Given the description of an element on the screen output the (x, y) to click on. 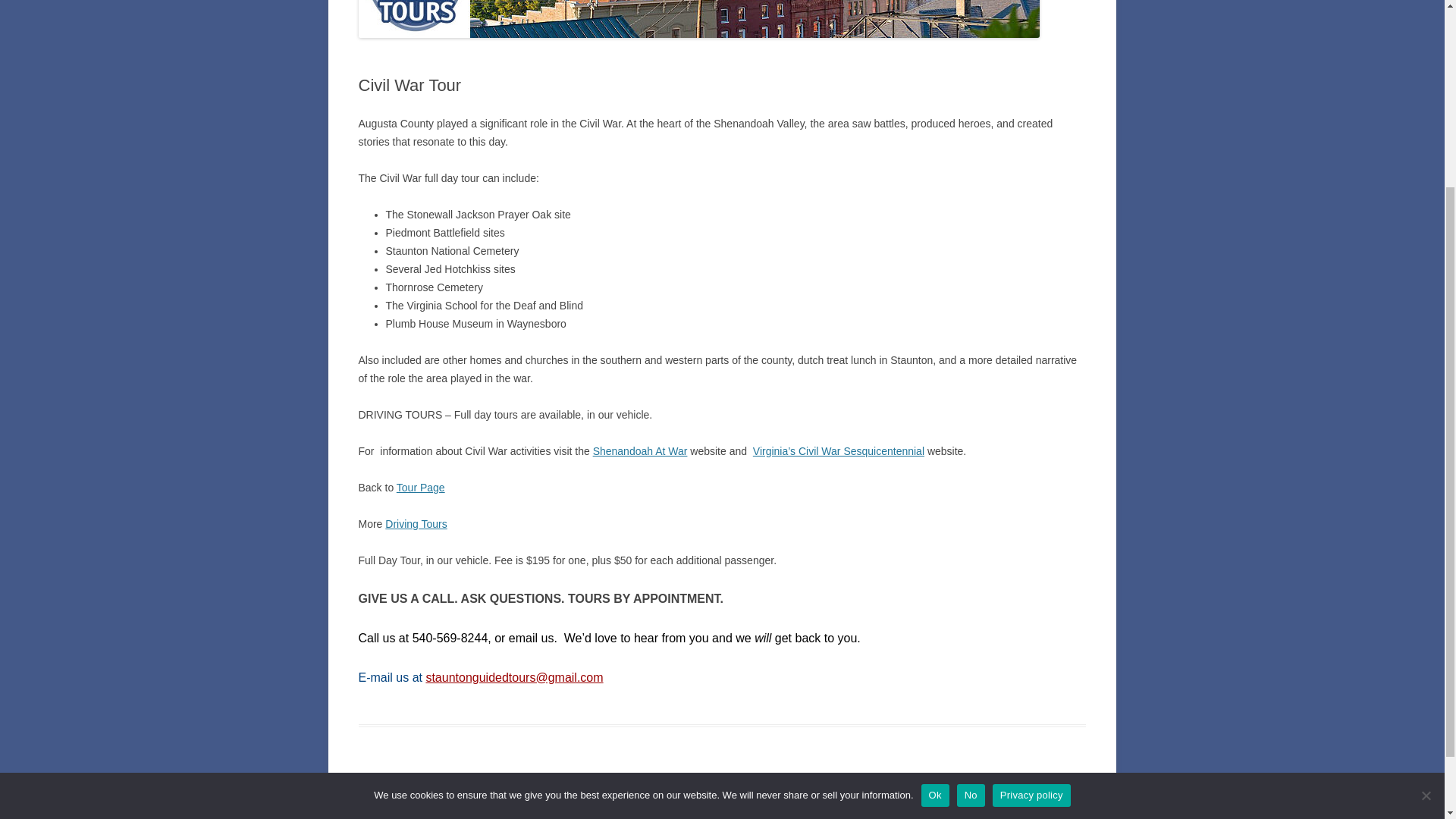
No (970, 542)
Privacy policy (1031, 542)
Shenandoah At War (639, 451)
No (1425, 542)
Ok (935, 542)
Driving Tours (415, 523)
Tour Page (420, 487)
